Given the description of an element on the screen output the (x, y) to click on. 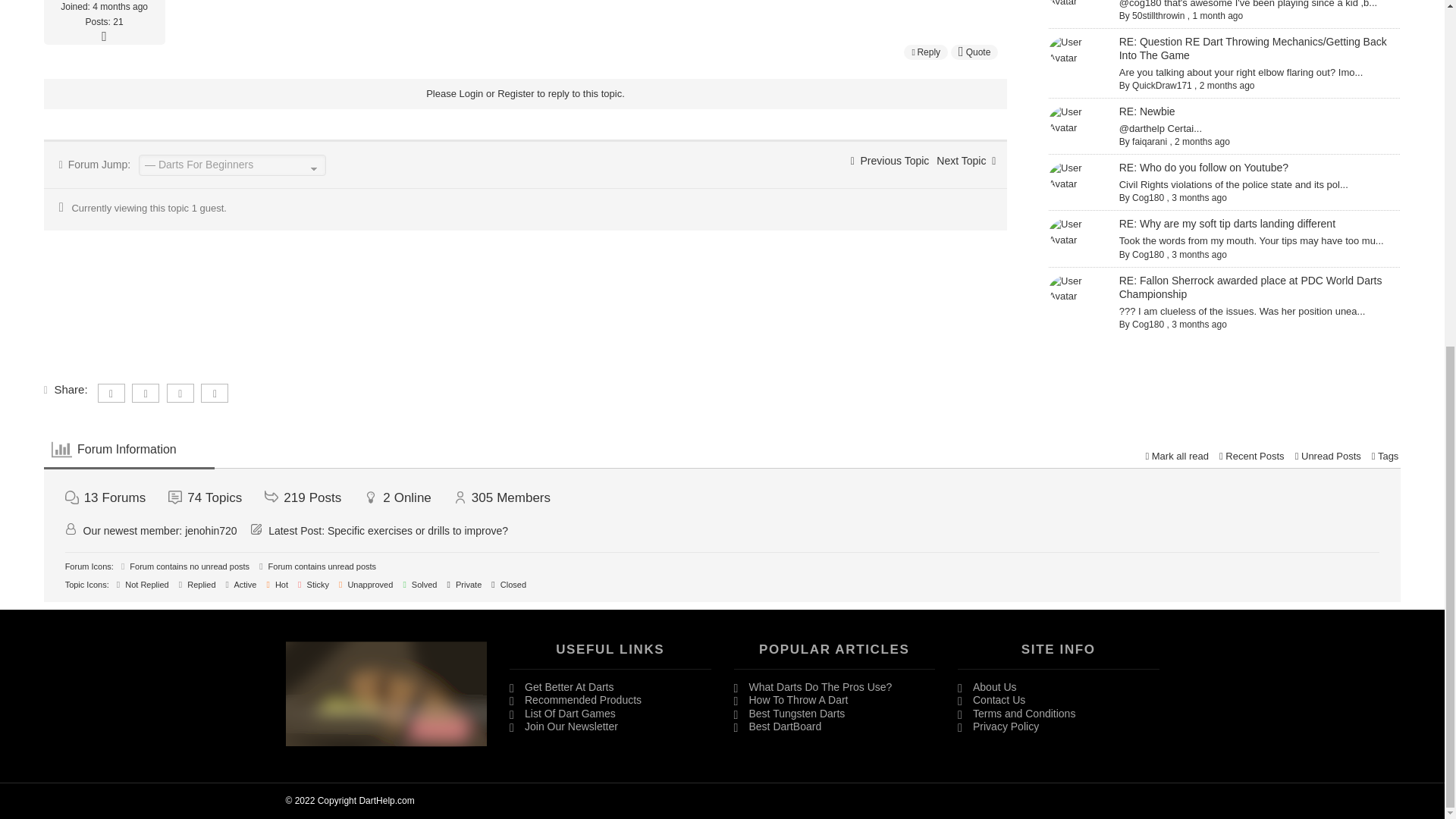
  Previous Topic (890, 159)
Next Topic   (965, 159)
Login (471, 92)
Register (515, 92)
